Given the description of an element on the screen output the (x, y) to click on. 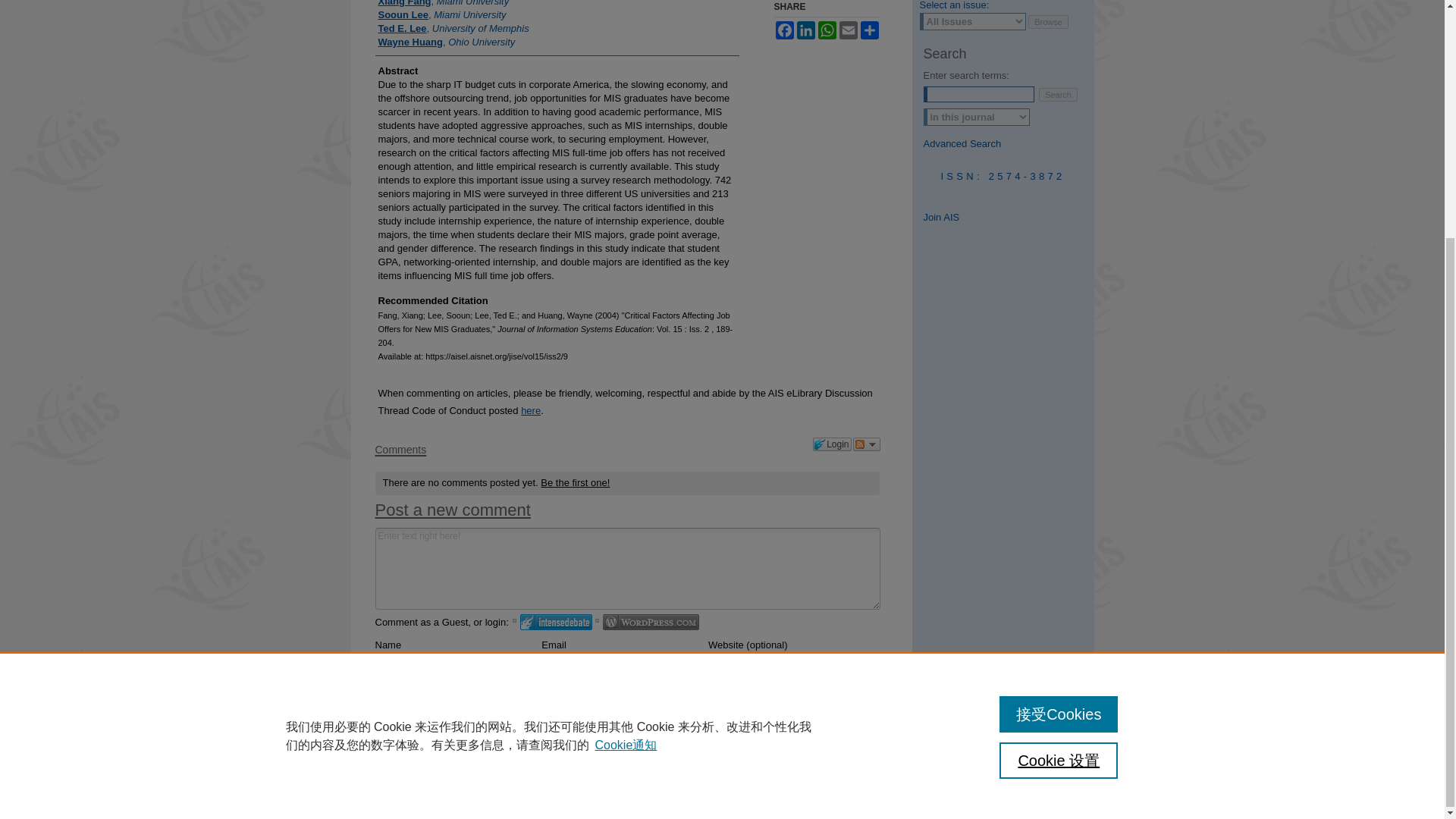
Login (831, 444)
Search (1058, 94)
Sooun Lee, Miami University (441, 15)
LinkedIn (804, 30)
Browse (1047, 21)
Browse (1047, 21)
Ted E. Lee, University of Memphis (452, 29)
Search (1058, 94)
Xiang Fang, Miami University (442, 4)
Wayne Huang, Ohio University (446, 42)
WhatsApp (826, 30)
Facebook (783, 30)
here (530, 410)
Email (848, 30)
